Given the description of an element on the screen output the (x, y) to click on. 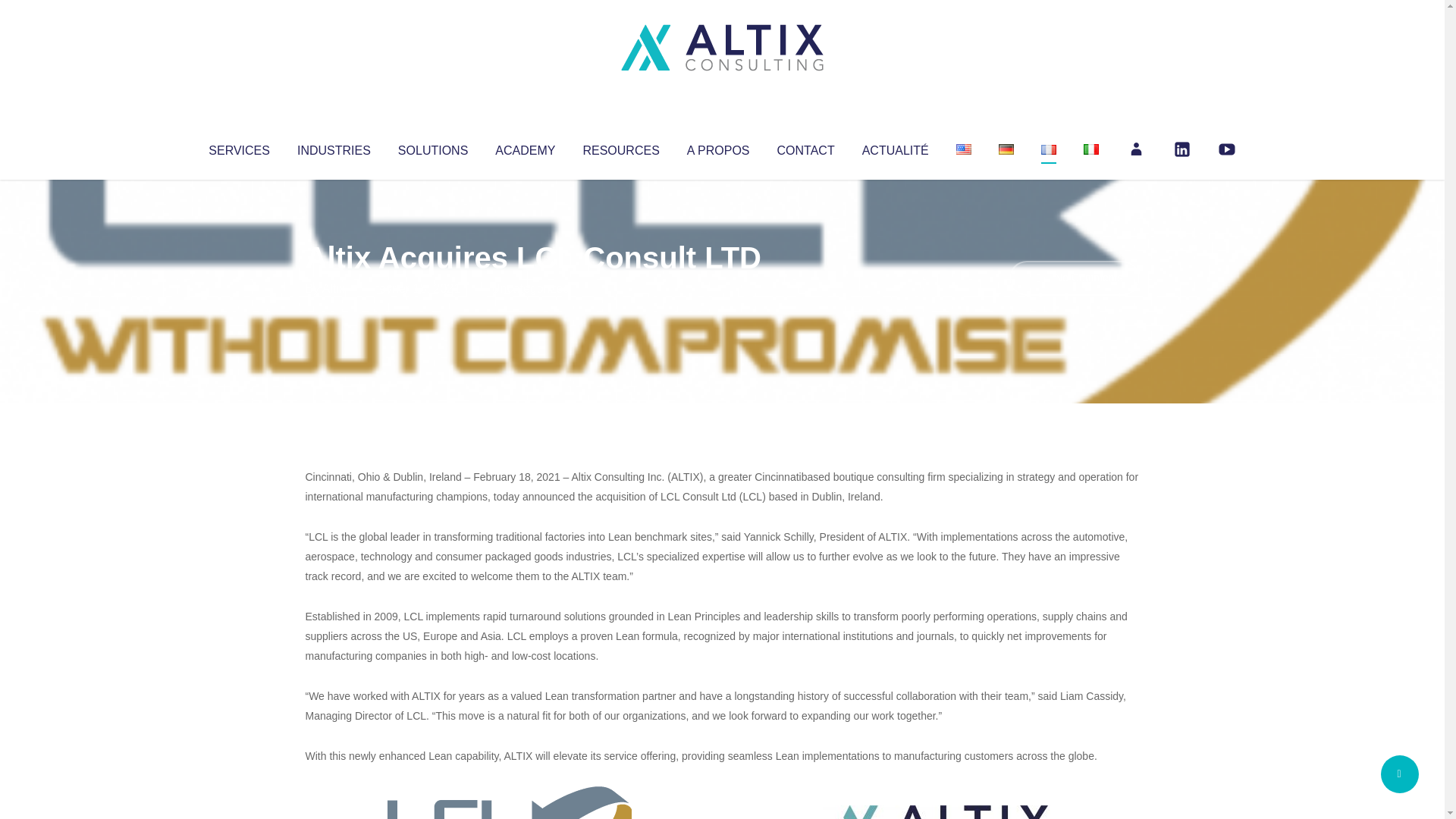
No Comments (1073, 278)
SERVICES (238, 146)
SOLUTIONS (432, 146)
A PROPOS (718, 146)
INDUSTRIES (334, 146)
Uncategorized (530, 287)
RESOURCES (620, 146)
ACADEMY (524, 146)
Altix (333, 287)
Articles par Altix (333, 287)
